Given the description of an element on the screen output the (x, y) to click on. 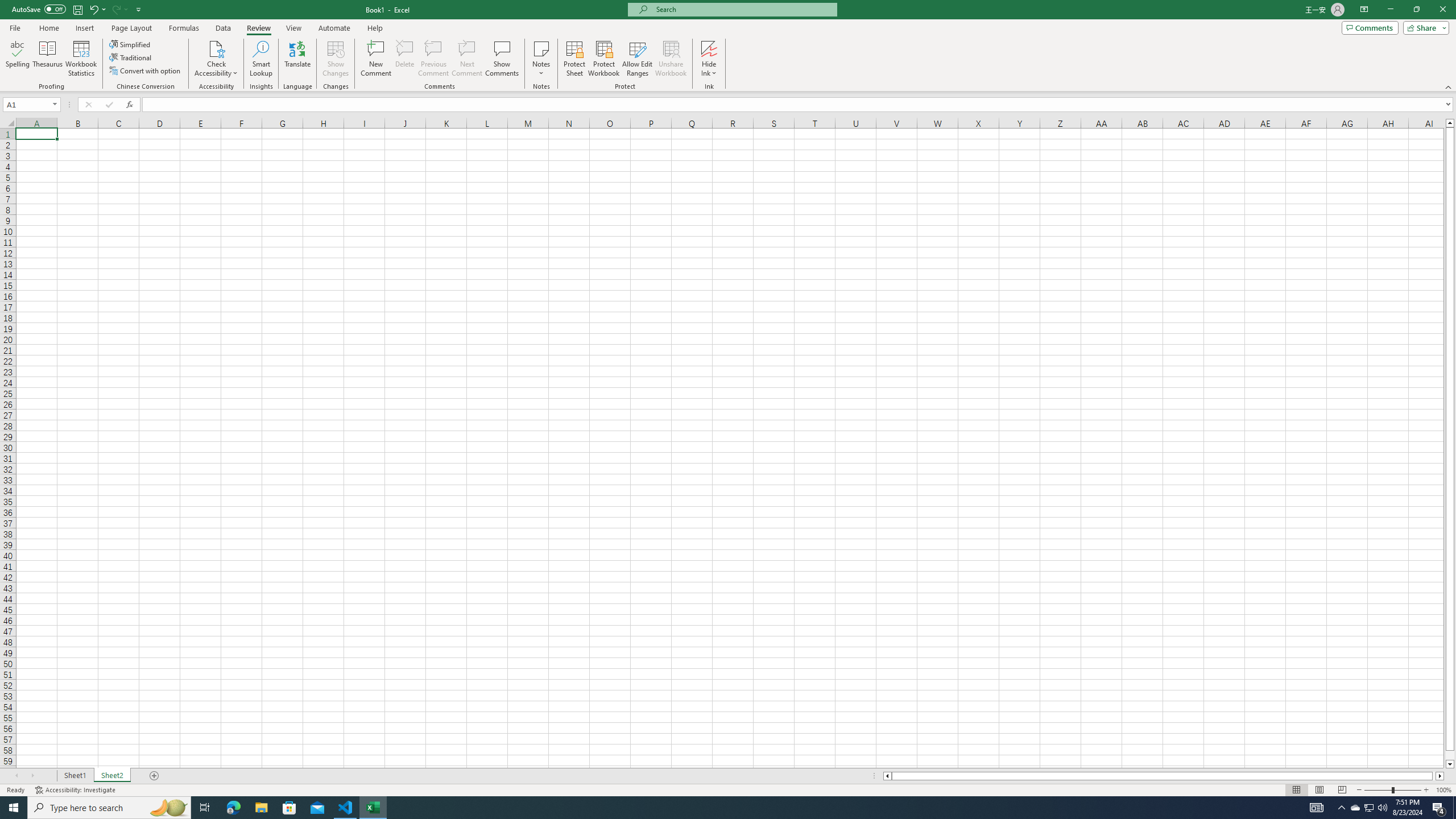
Unshare Workbook (670, 58)
Show Changes (335, 58)
Sheet2 (112, 775)
